Given the description of an element on the screen output the (x, y) to click on. 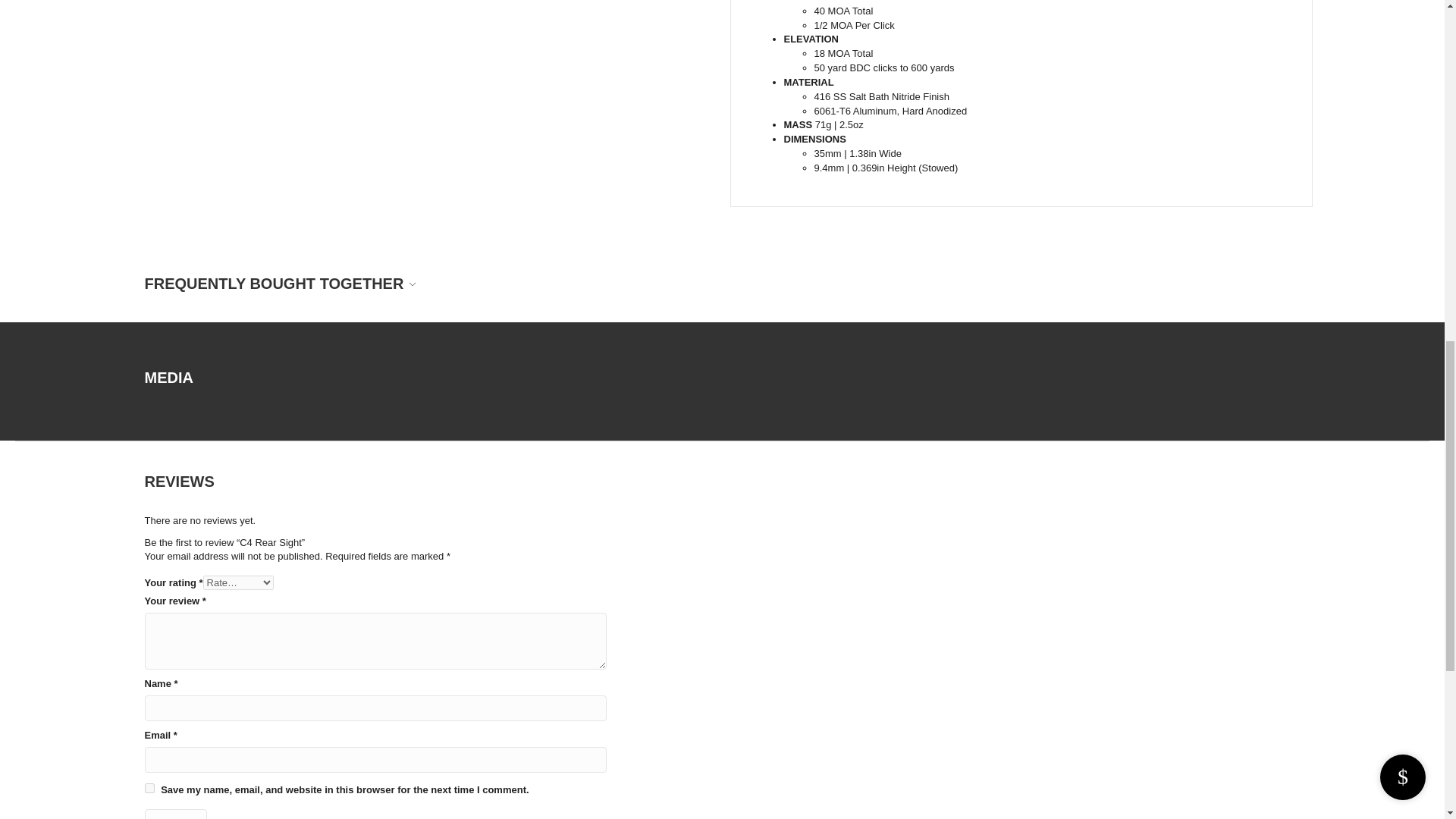
Submit (175, 814)
yes (149, 787)
